Given the description of an element on the screen output the (x, y) to click on. 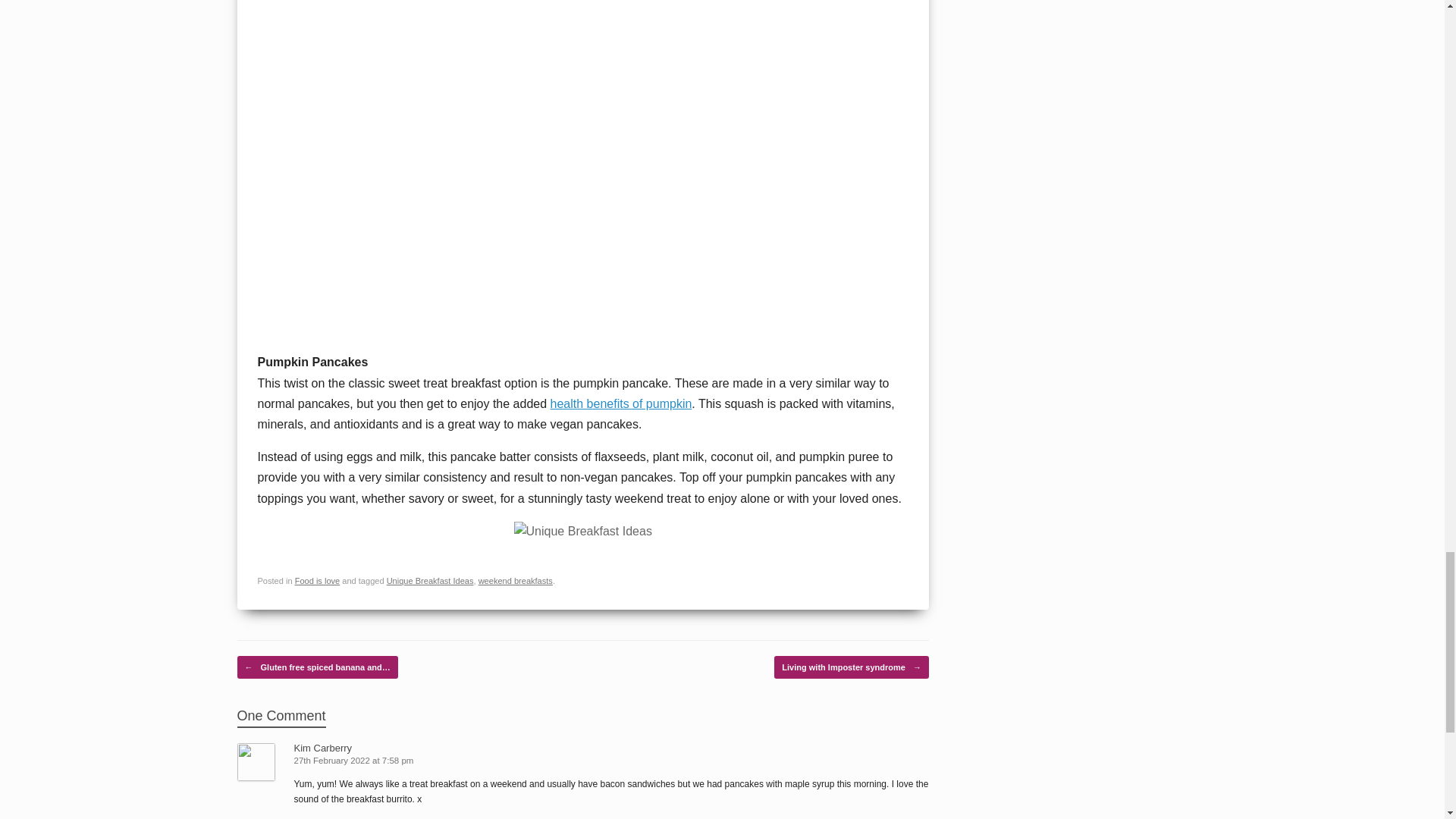
Unique Breakfast Ideas (430, 580)
27th February 2022 at 7:58 pm (355, 759)
Food is love (317, 580)
health benefits of pumpkin (621, 403)
Kim Carberry (323, 747)
weekend breakfasts (516, 580)
